Given the description of an element on the screen output the (x, y) to click on. 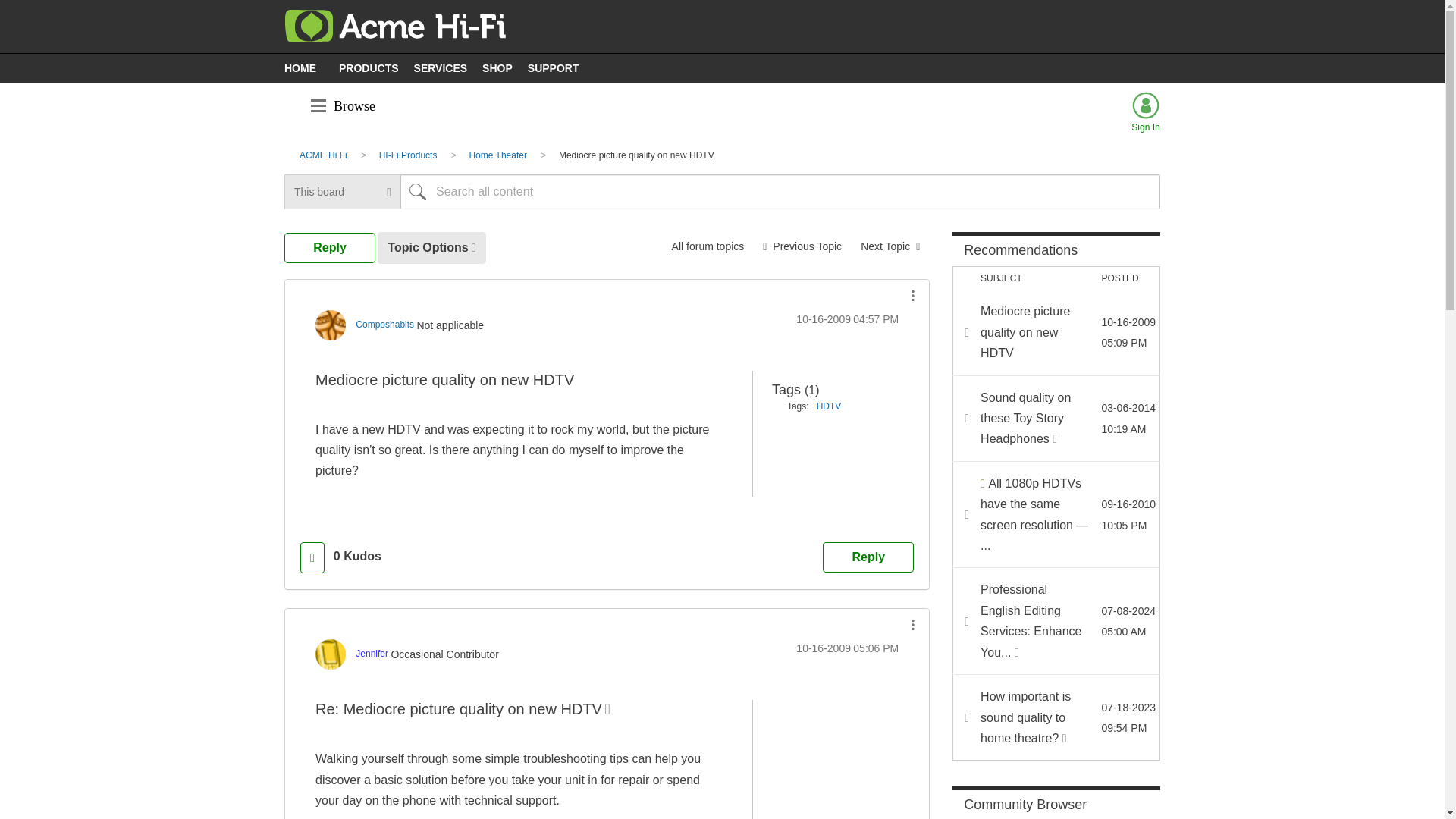
Composhabits (384, 324)
Next Topic (890, 246)
Search (417, 191)
Search (780, 191)
Home Theater (708, 246)
Topic Options (430, 246)
Search (417, 191)
Show option menu (912, 295)
SHOP (500, 67)
SUPPORT (556, 67)
